Given the description of an element on the screen output the (x, y) to click on. 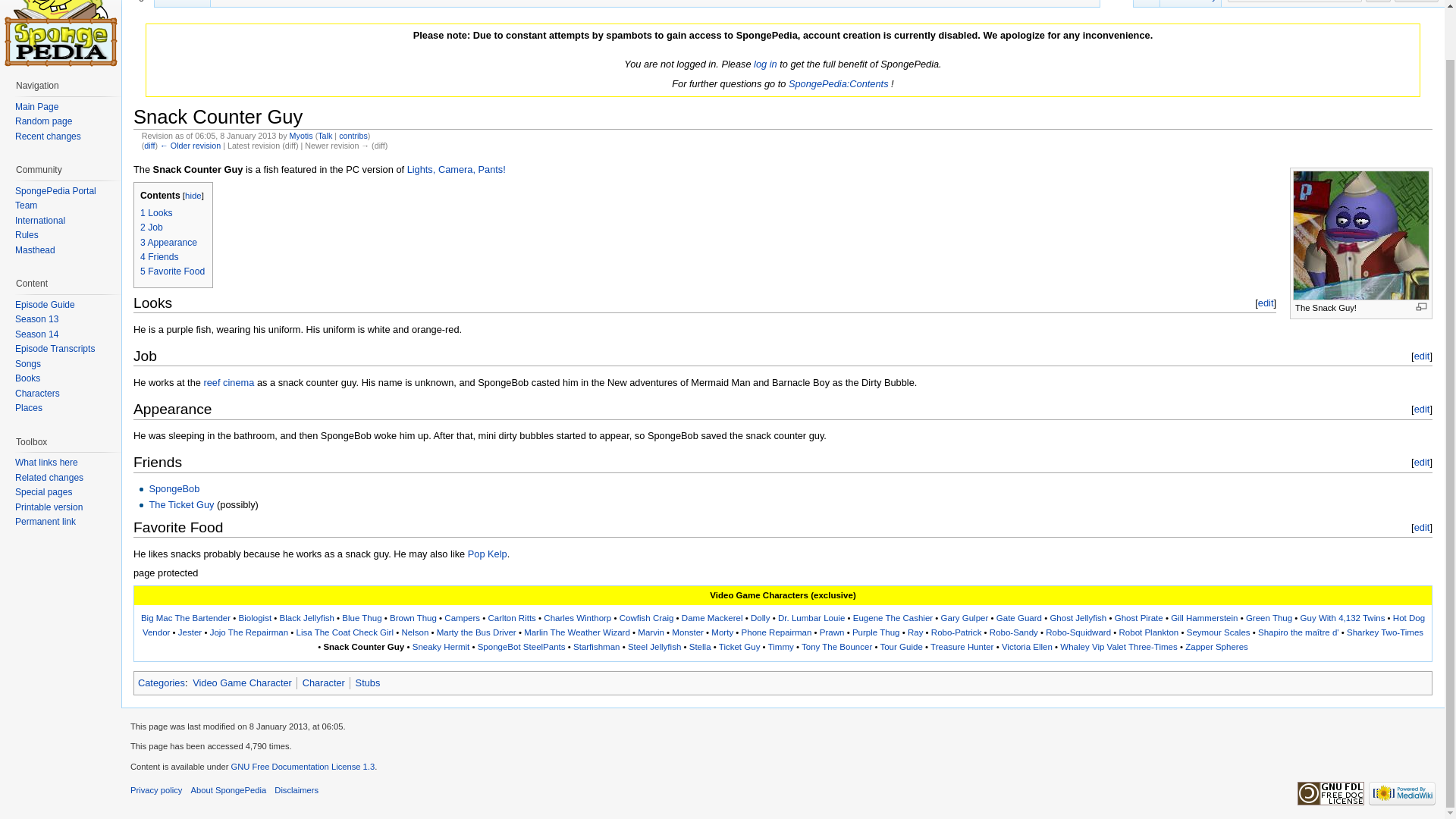
Go (1378, 1)
hide (193, 194)
User talk:Myotis (324, 135)
The Reef (228, 382)
Biologist (255, 617)
Myotis (301, 135)
SpongePedia:Contents (838, 83)
Black Jellyfish (306, 617)
edit (1421, 408)
Pop Kelp (486, 553)
